Given the description of an element on the screen output the (x, y) to click on. 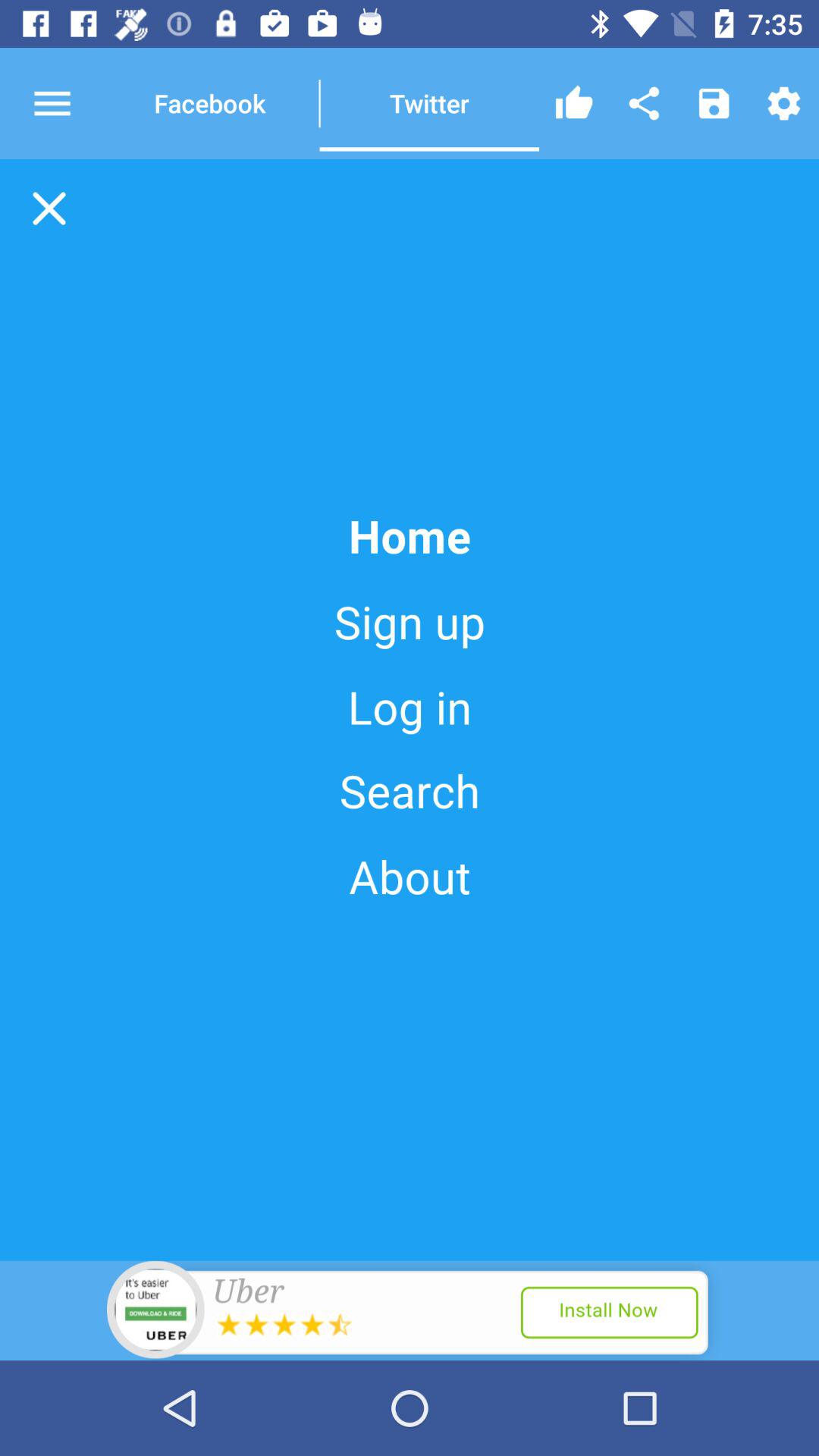
open menu (65, 103)
